Given the description of an element on the screen output the (x, y) to click on. 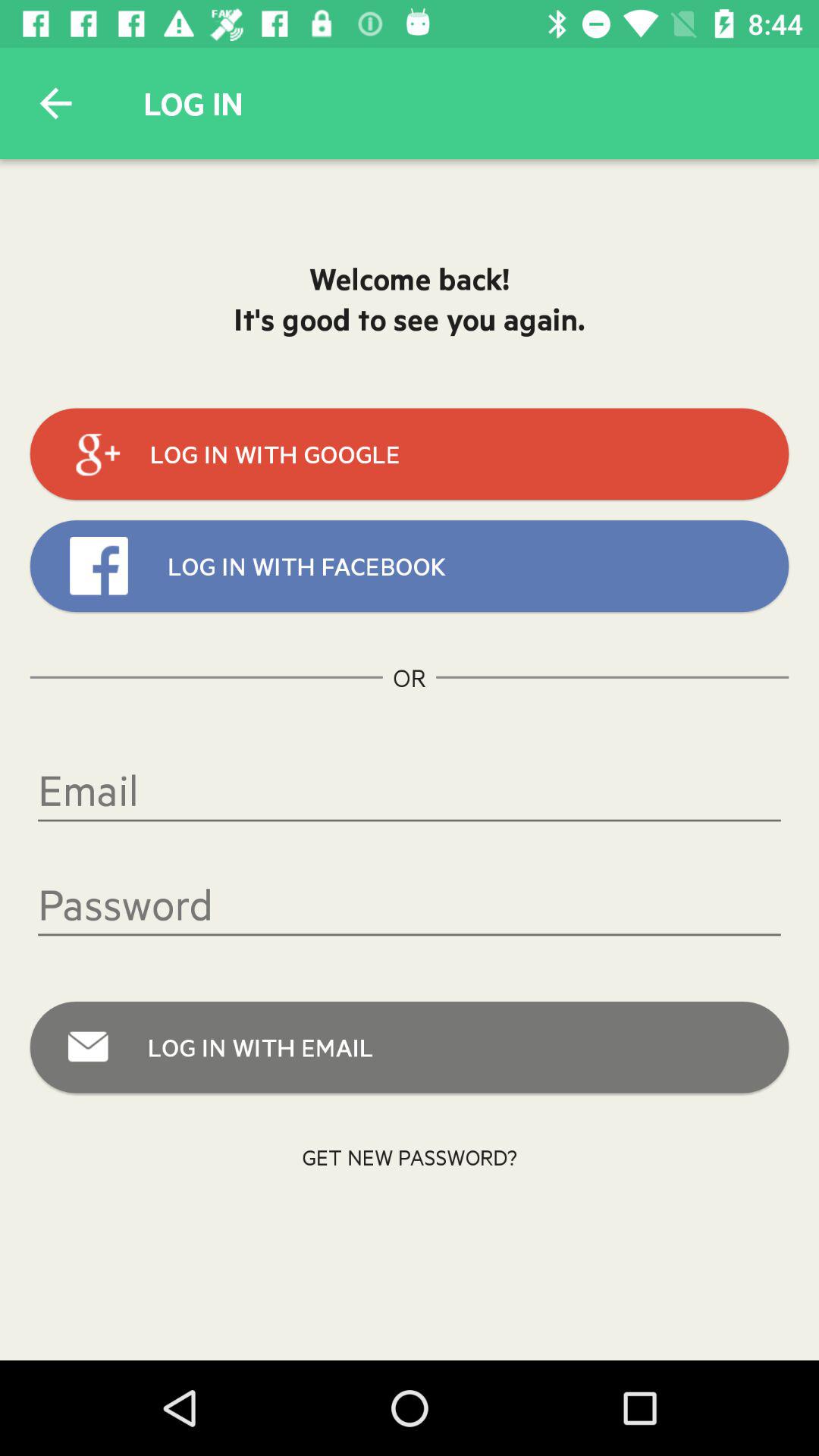
launch the icon next to log in icon (55, 103)
